Given the description of an element on the screen output the (x, y) to click on. 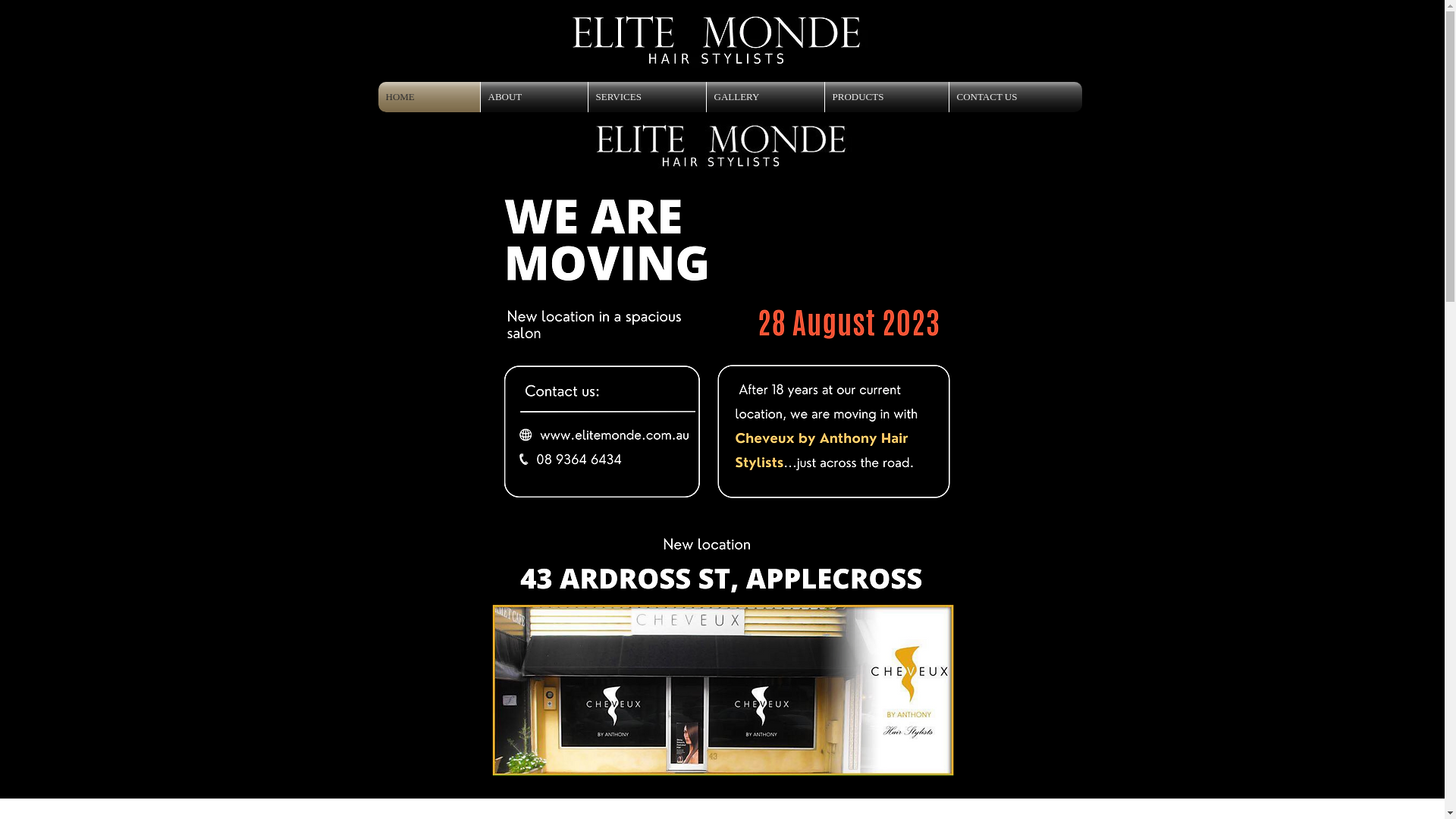
GALLERY Element type: text (765, 96)
HOME Element type: text (428, 96)
SERVICES Element type: text (647, 96)
CONTACT US Element type: text (1015, 96)
PRODUCTS Element type: text (886, 96)
ABOUT Element type: text (533, 96)
We are Moving Flyer.png Element type: hover (721, 453)
